Given the description of an element on the screen output the (x, y) to click on. 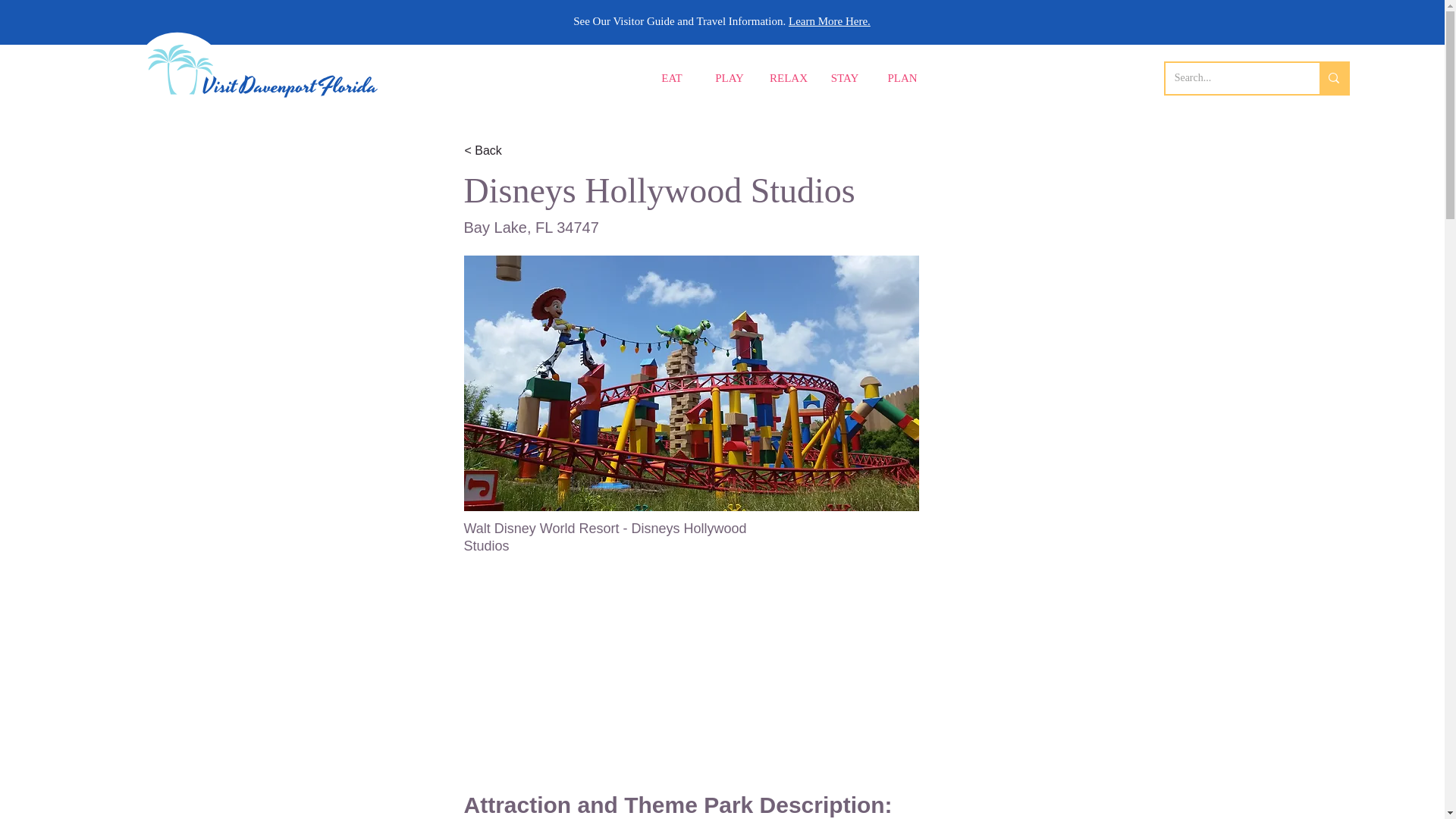
STAY (844, 78)
Learn More Here. (829, 21)
PLAY (729, 78)
EAT (671, 78)
RELAX (786, 78)
